Given the description of an element on the screen output the (x, y) to click on. 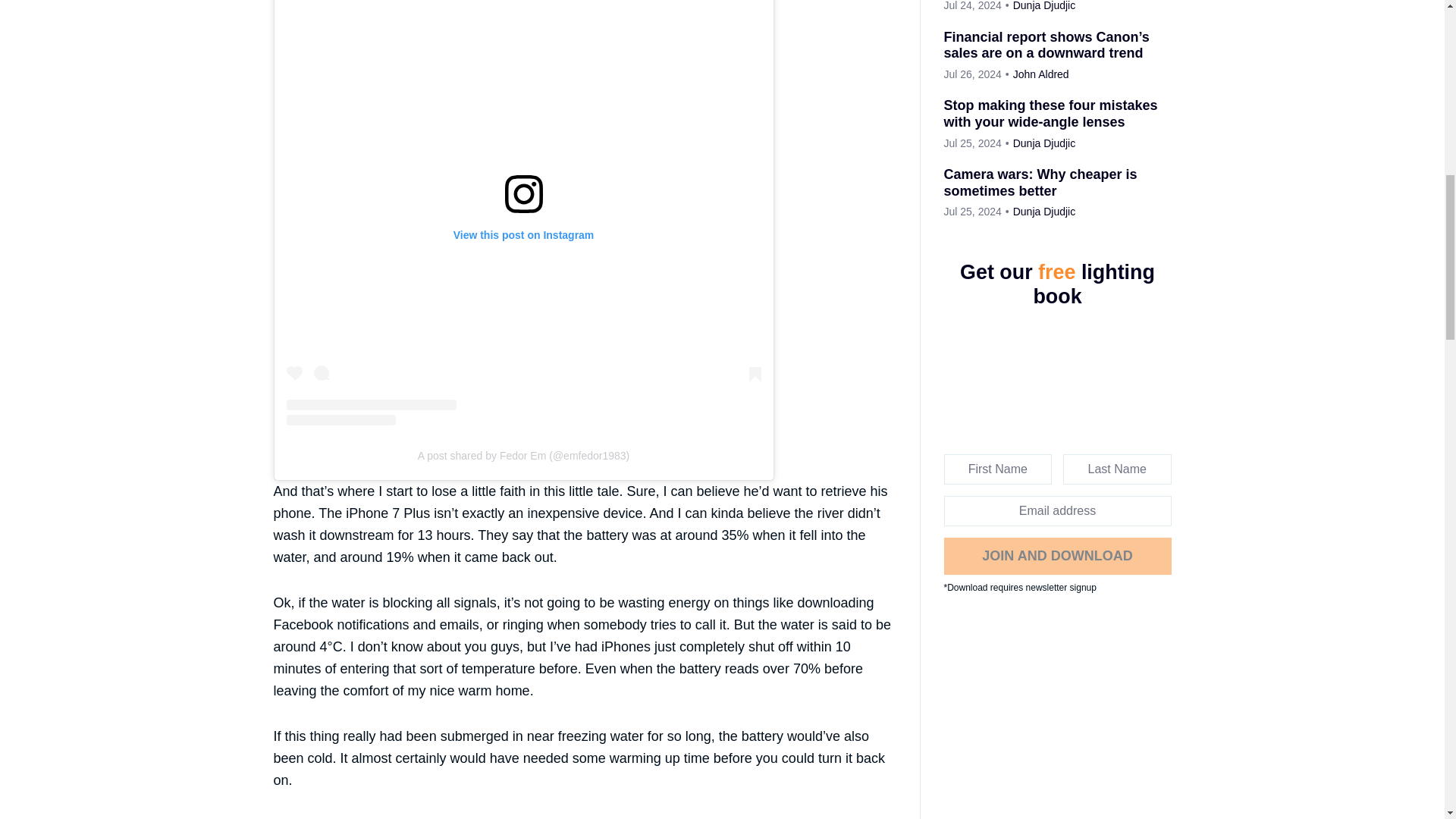
Join and Download (1056, 555)
